Given the description of an element on the screen output the (x, y) to click on. 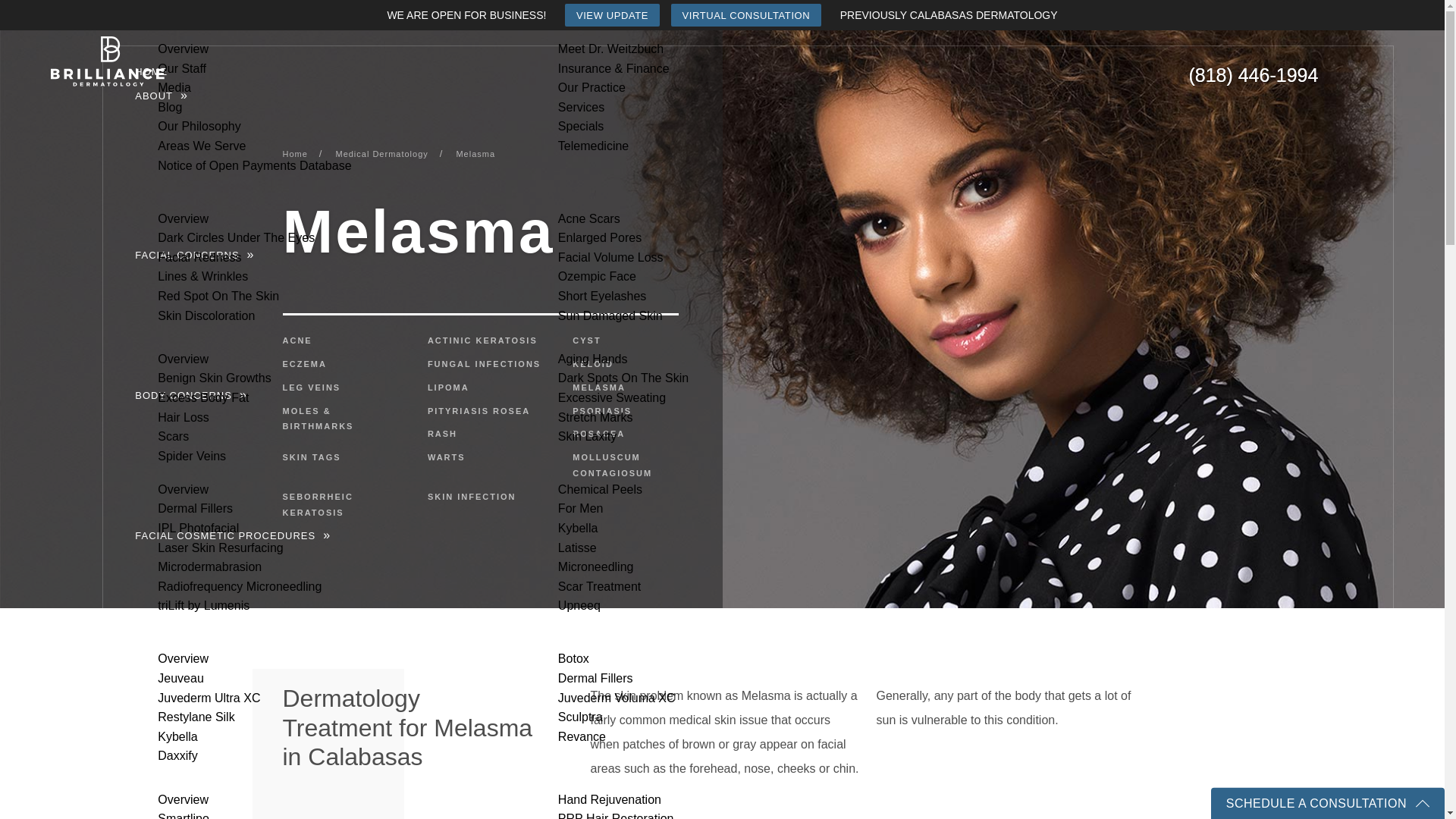
Services (580, 106)
Overview (182, 218)
Our Practice (591, 88)
Ozempic Face (596, 277)
Dark Circles Under The Eyes (235, 237)
BODY CONCERNS (184, 395)
Telemedicine (592, 145)
Meet Dr. Weitzbuch (610, 48)
ABOUT (154, 95)
HOME (151, 71)
Facial Volume Loss (610, 256)
Sun Damaged Skin (609, 315)
Specials (580, 126)
Enlarged Pores (599, 237)
VIEW UPDATE (611, 15)
